Given the description of an element on the screen output the (x, y) to click on. 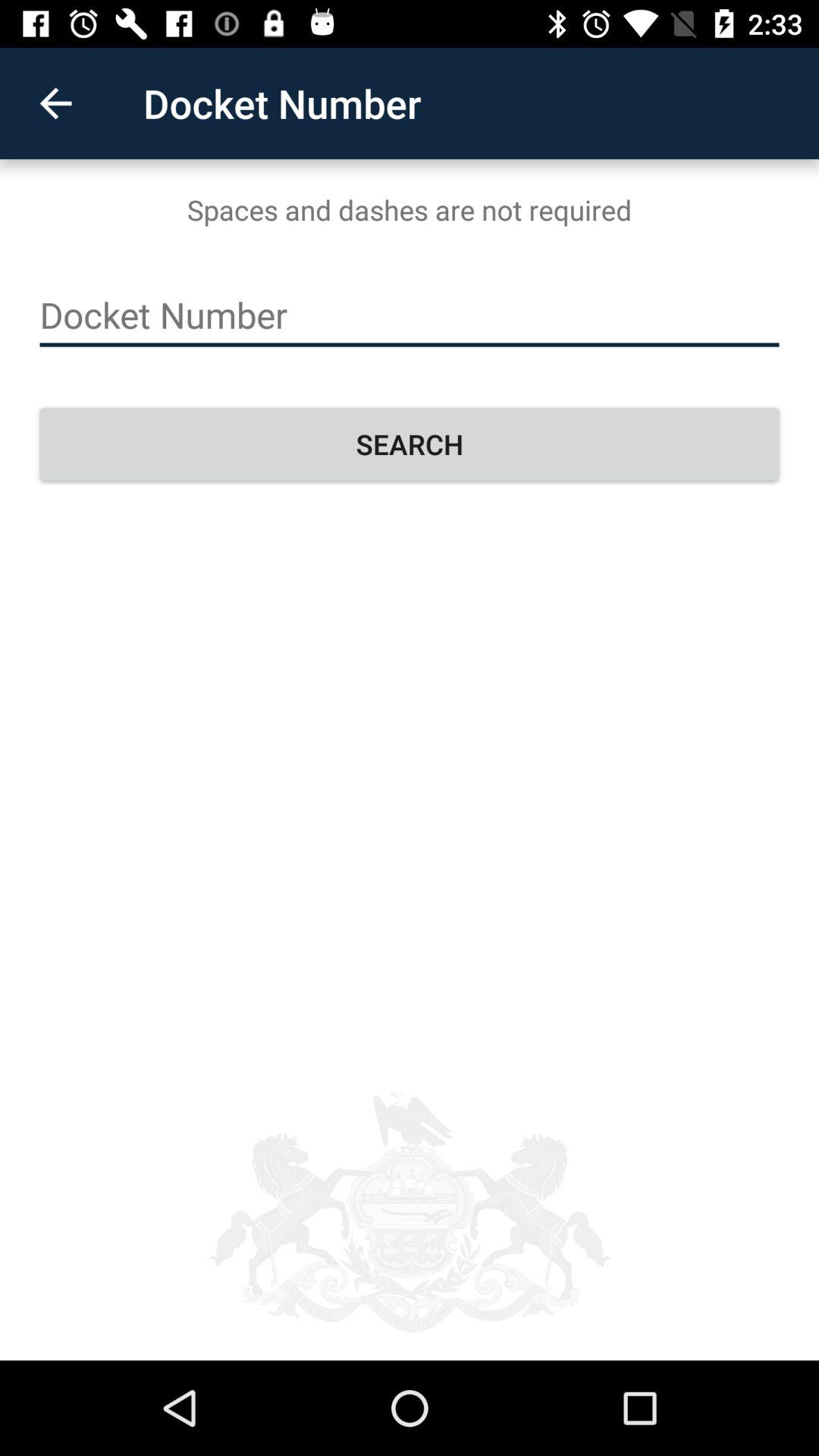
tap the item above the search item (409, 315)
